Given the description of an element on the screen output the (x, y) to click on. 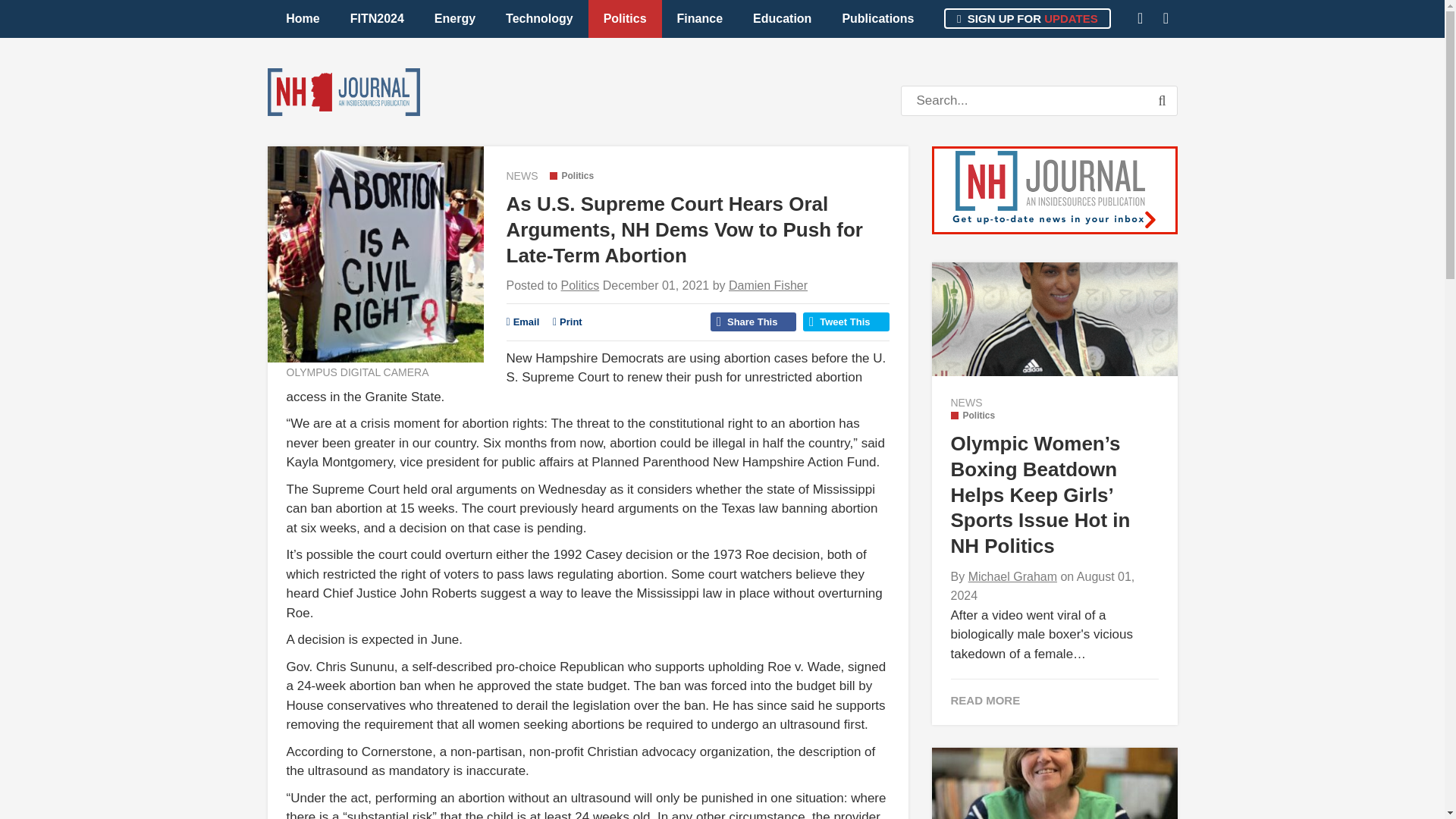
Education (782, 18)
Posts by Michael Graham (1012, 576)
Politics (972, 415)
Politics (625, 18)
Politics (579, 285)
Energy (454, 18)
Politics (579, 285)
Technology (539, 18)
Home (302, 18)
Share This (753, 321)
Damien Fisher (768, 285)
Email (523, 321)
FITN2024 (376, 18)
Posts by Damien Fisher (768, 285)
Publications (877, 18)
